Given the description of an element on the screen output the (x, y) to click on. 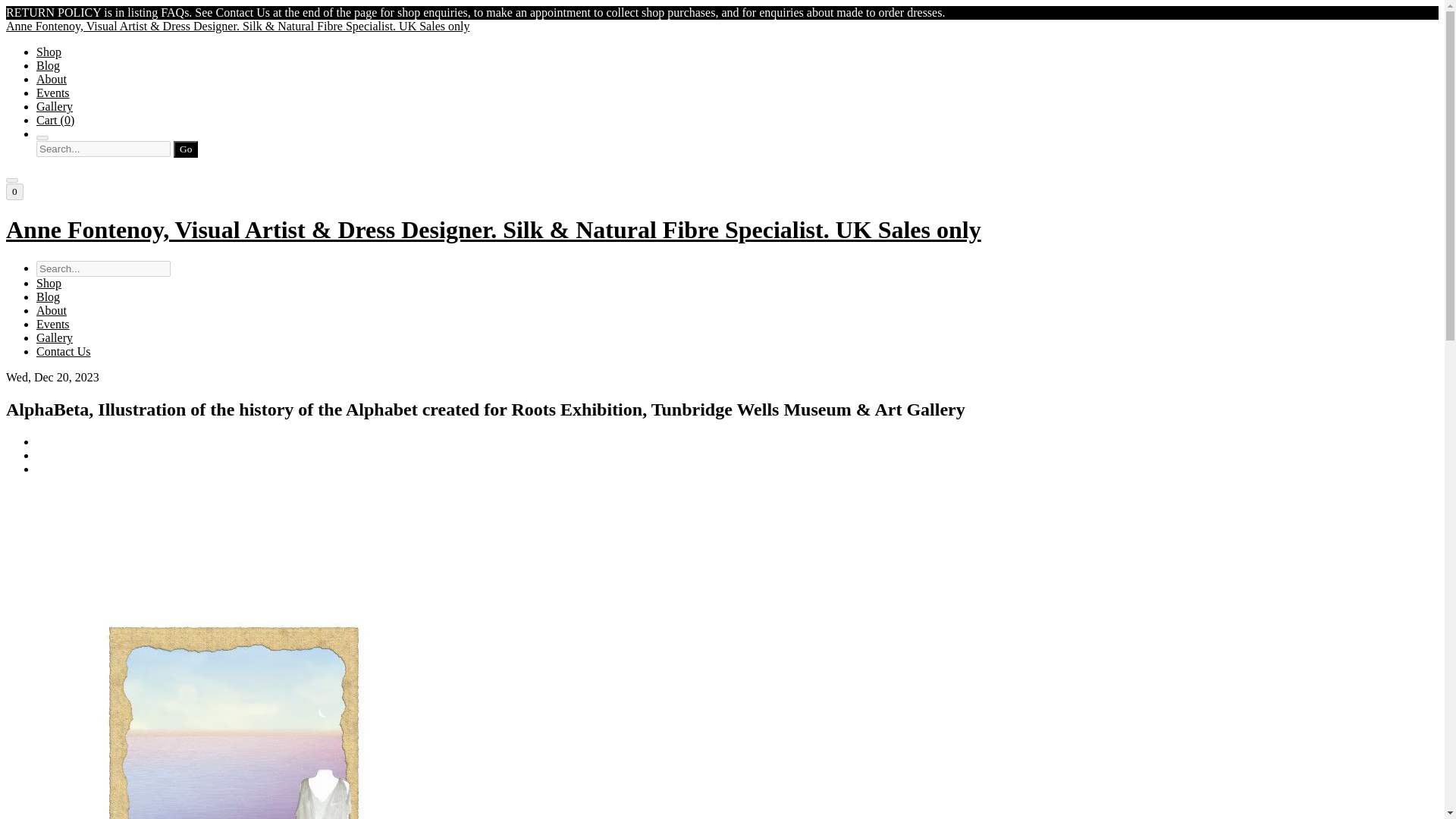
Events (52, 323)
Gallery (54, 337)
About (51, 78)
Contact Us (63, 350)
Blog (47, 296)
Events (52, 92)
About (51, 309)
Gallery (54, 106)
Go (185, 149)
Go (185, 149)
